Given the description of an element on the screen output the (x, y) to click on. 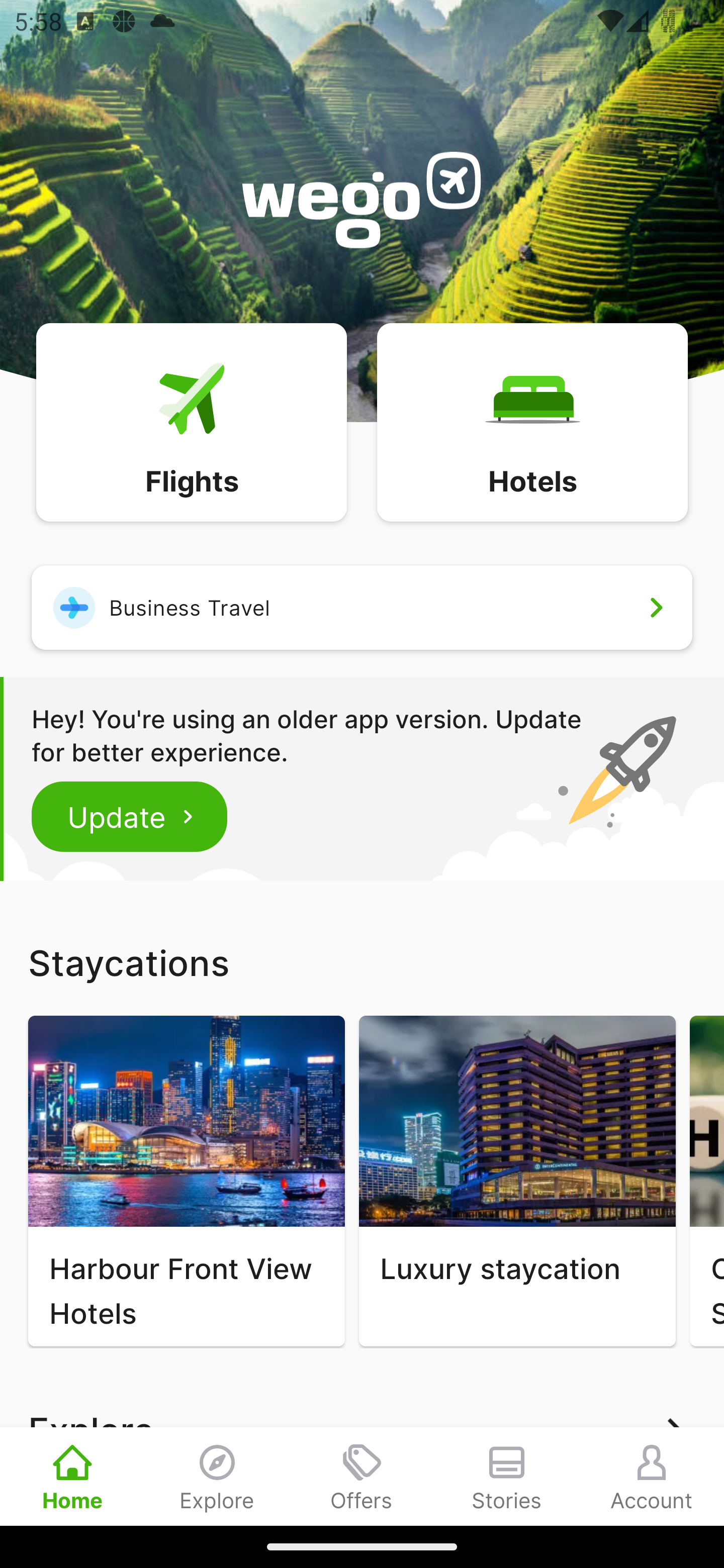
Flights (191, 420)
Hotels (532, 420)
Business Travel (361, 607)
Update (129, 815)
Staycations (362, 962)
Harbour Front View Hotels (186, 1181)
Luxury staycation (517, 1181)
Explore (216, 1475)
Offers (361, 1475)
Stories (506, 1475)
Account (651, 1475)
